Given the description of an element on the screen output the (x, y) to click on. 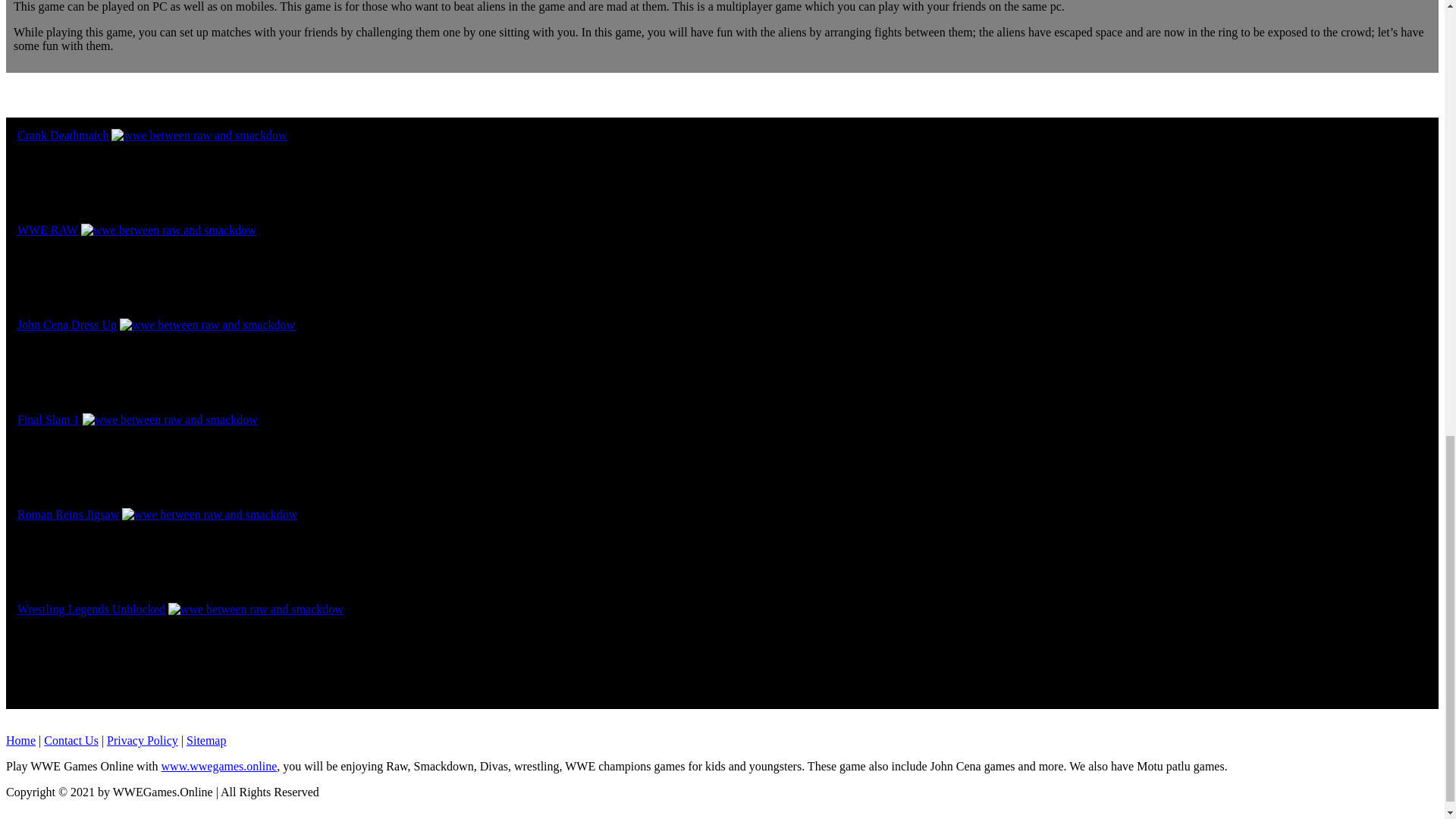
Final Slam 1 (48, 419)
Privacy Policy (141, 739)
Contact Us (71, 739)
John Cena Dress Up (66, 324)
Roman Reins Jigsaw (68, 513)
WWE RAW (47, 229)
Sitemap (205, 739)
Home (19, 739)
Crank Deathmatch (62, 134)
Wrestling Legends Unblocked (91, 608)
www.wwegames.online (219, 766)
